Given the description of an element on the screen output the (x, y) to click on. 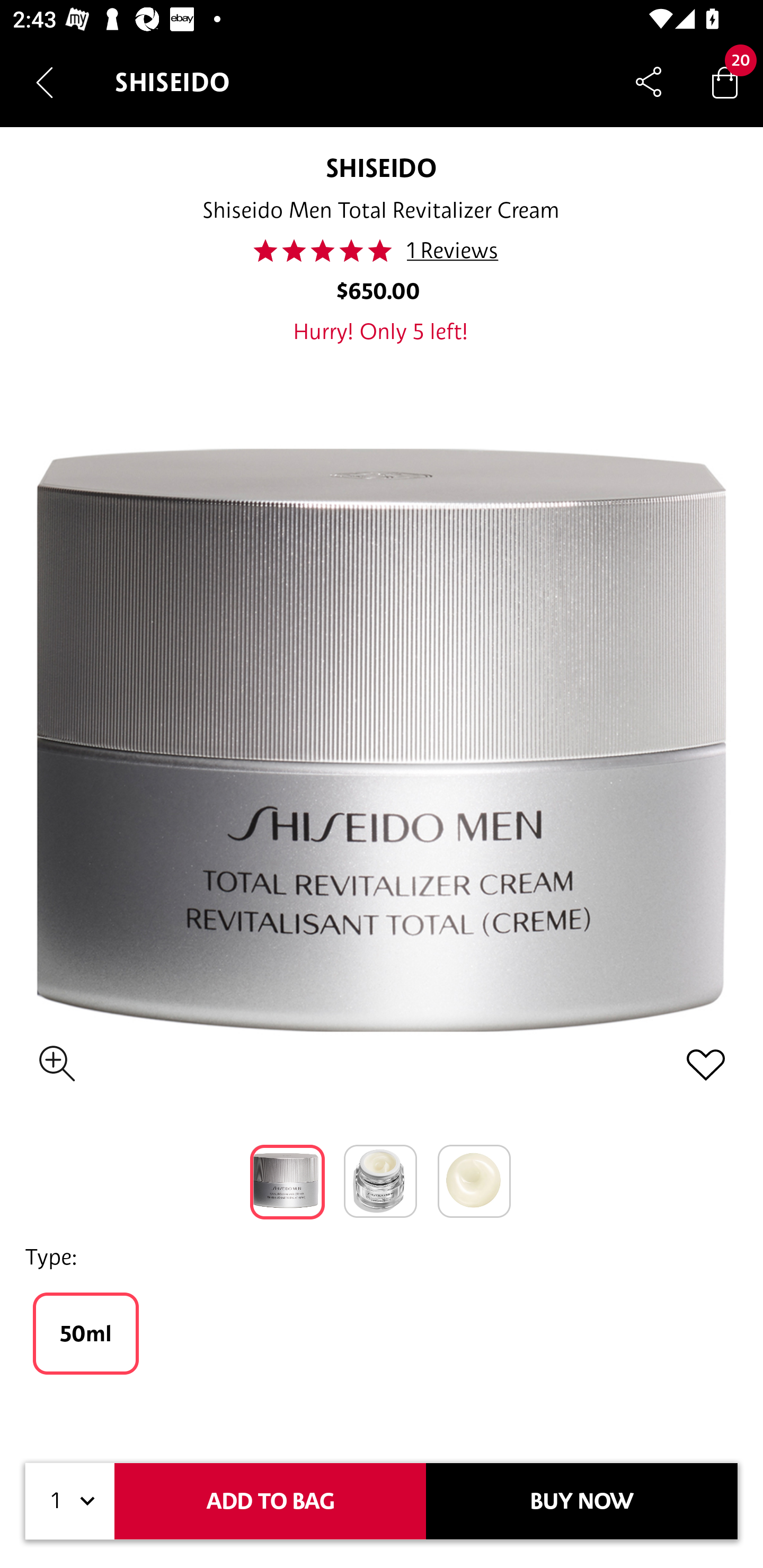
Navigate up (44, 82)
Share (648, 81)
Bag (724, 81)
SHISEIDO (380, 167)
50.0 1 Reviews (381, 250)
50ml (85, 1333)
1 (69, 1500)
ADD TO BAG (269, 1500)
BUY NOW (581, 1500)
